Given the description of an element on the screen output the (x, y) to click on. 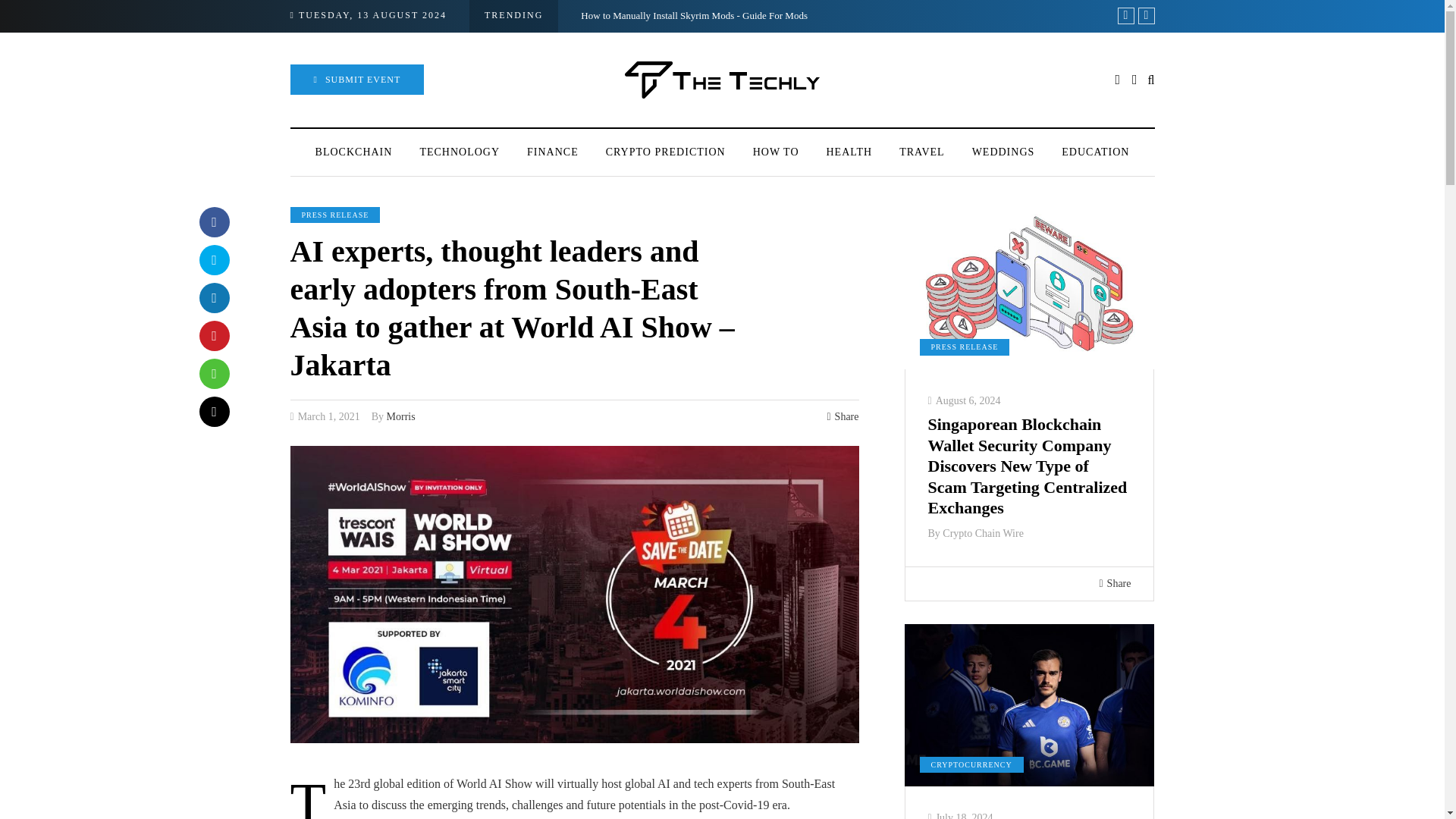
BLOCKCHAIN (353, 152)
Pin this (213, 336)
Morris (400, 416)
Share with LinkedIn (213, 297)
TRAVEL (921, 152)
CRYPTO PREDICTION (665, 152)
Share to WhatsApp (213, 373)
FINANCE (552, 152)
Share by Email (213, 411)
SUBMIT EVENT (356, 79)
